Given the description of an element on the screen output the (x, y) to click on. 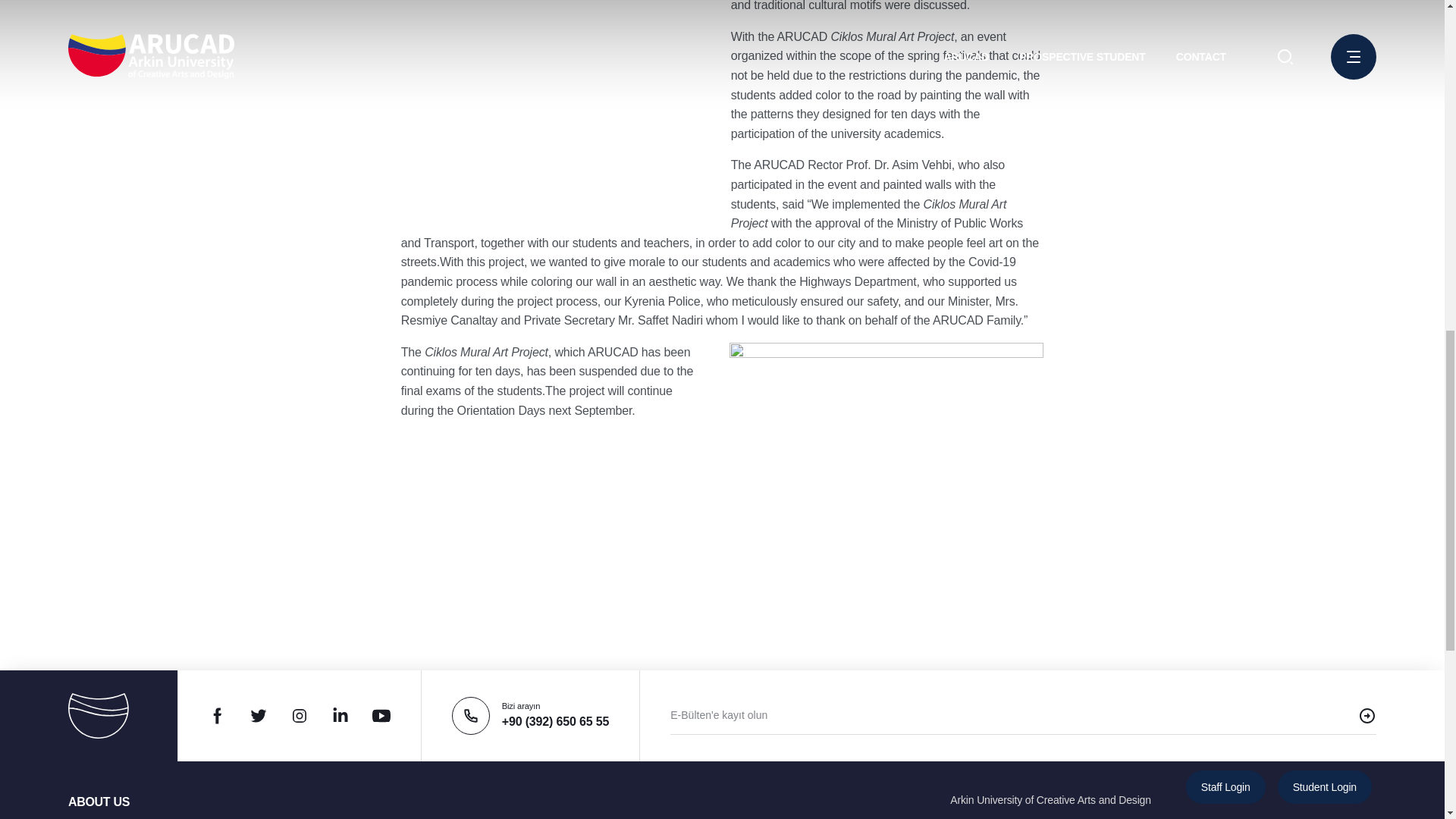
ABOUT US (98, 801)
